Given the description of an element on the screen output the (x, y) to click on. 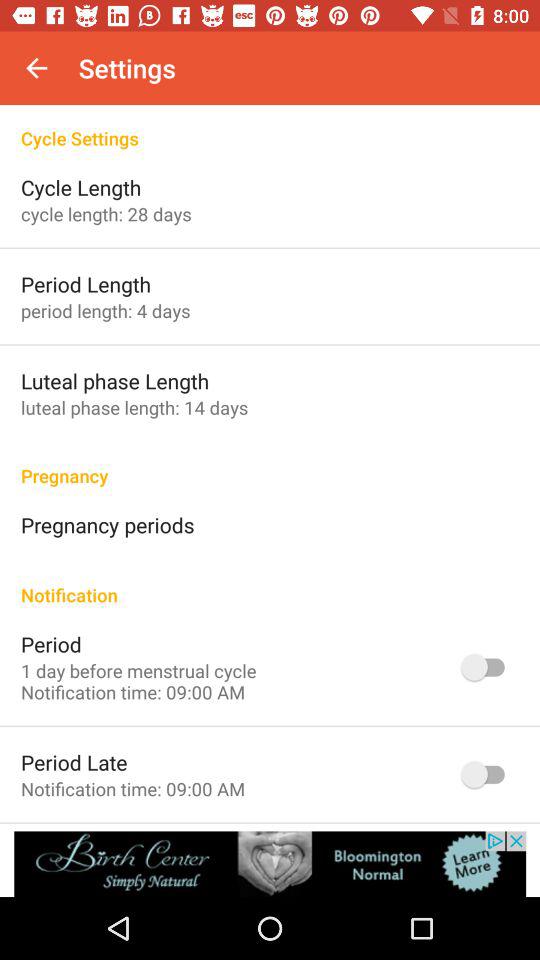
banner advertisement (270, 864)
